Given the description of an element on the screen output the (x, y) to click on. 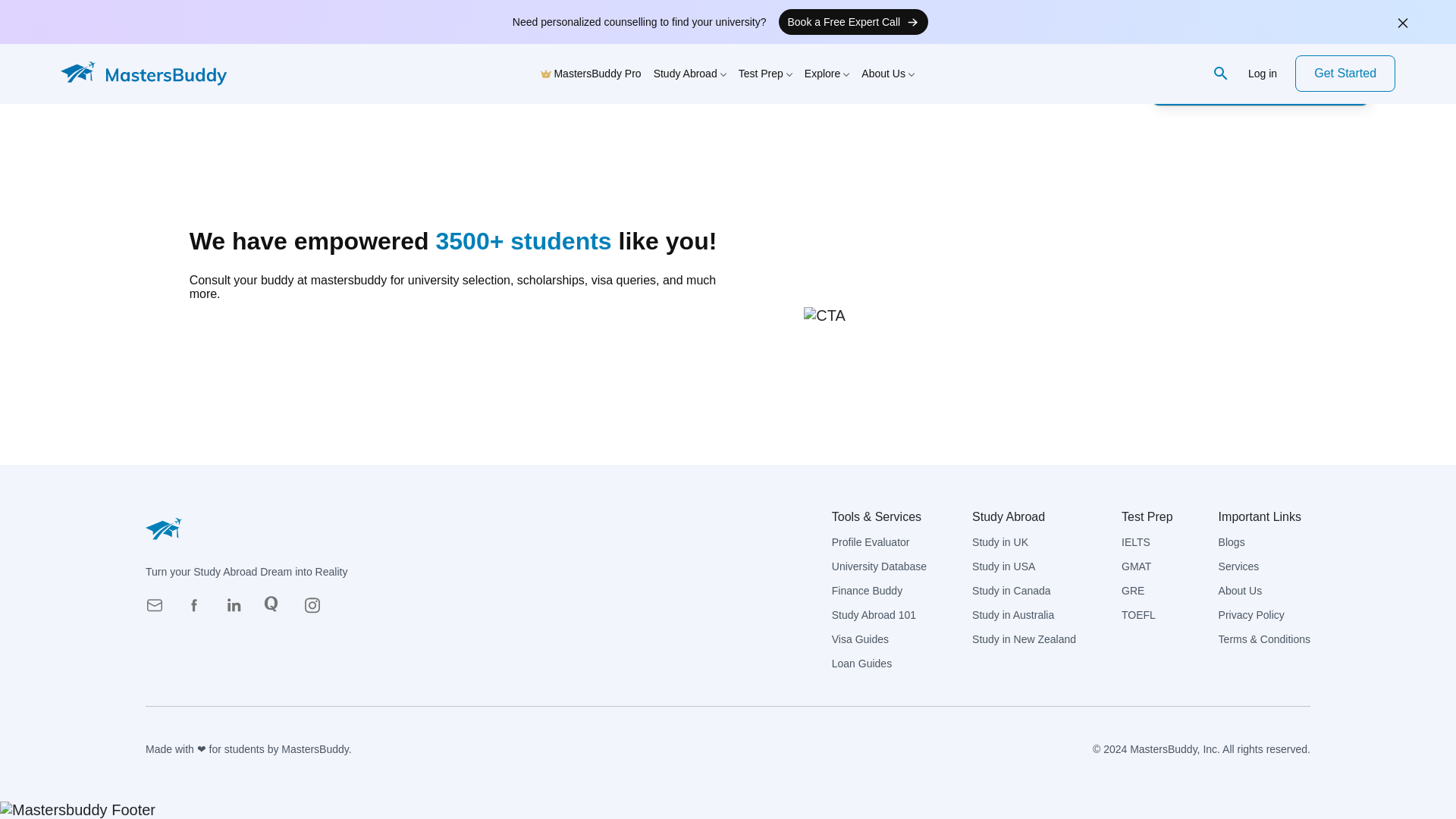
Mastersbuddy Linkedin (237, 609)
Mastersbuddy Facebook (198, 609)
Mastersbuddy Instagram (316, 609)
Mastersbuddy Quora (277, 609)
Mastersbuddy Mail (159, 609)
